Given the description of an element on the screen output the (x, y) to click on. 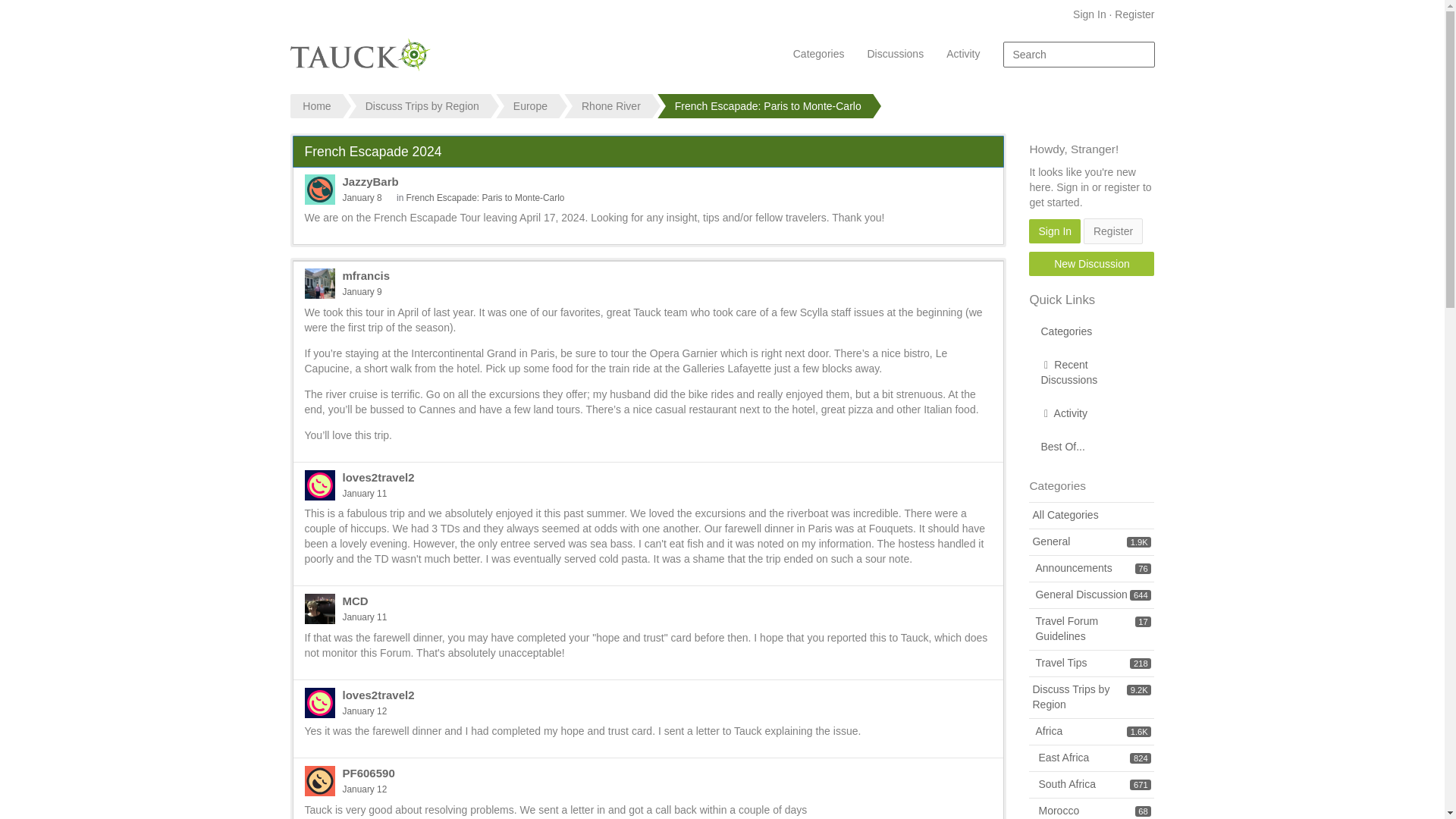
Europe (529, 105)
January 12, 2024 1:59PM (364, 710)
PF606590 (319, 780)
Sign In (1089, 14)
Categories (818, 54)
Register (1134, 14)
January 11 (364, 616)
January 12 (364, 788)
PF606590 (368, 772)
January 11, 2024 7:18PM (364, 493)
